Given the description of an element on the screen output the (x, y) to click on. 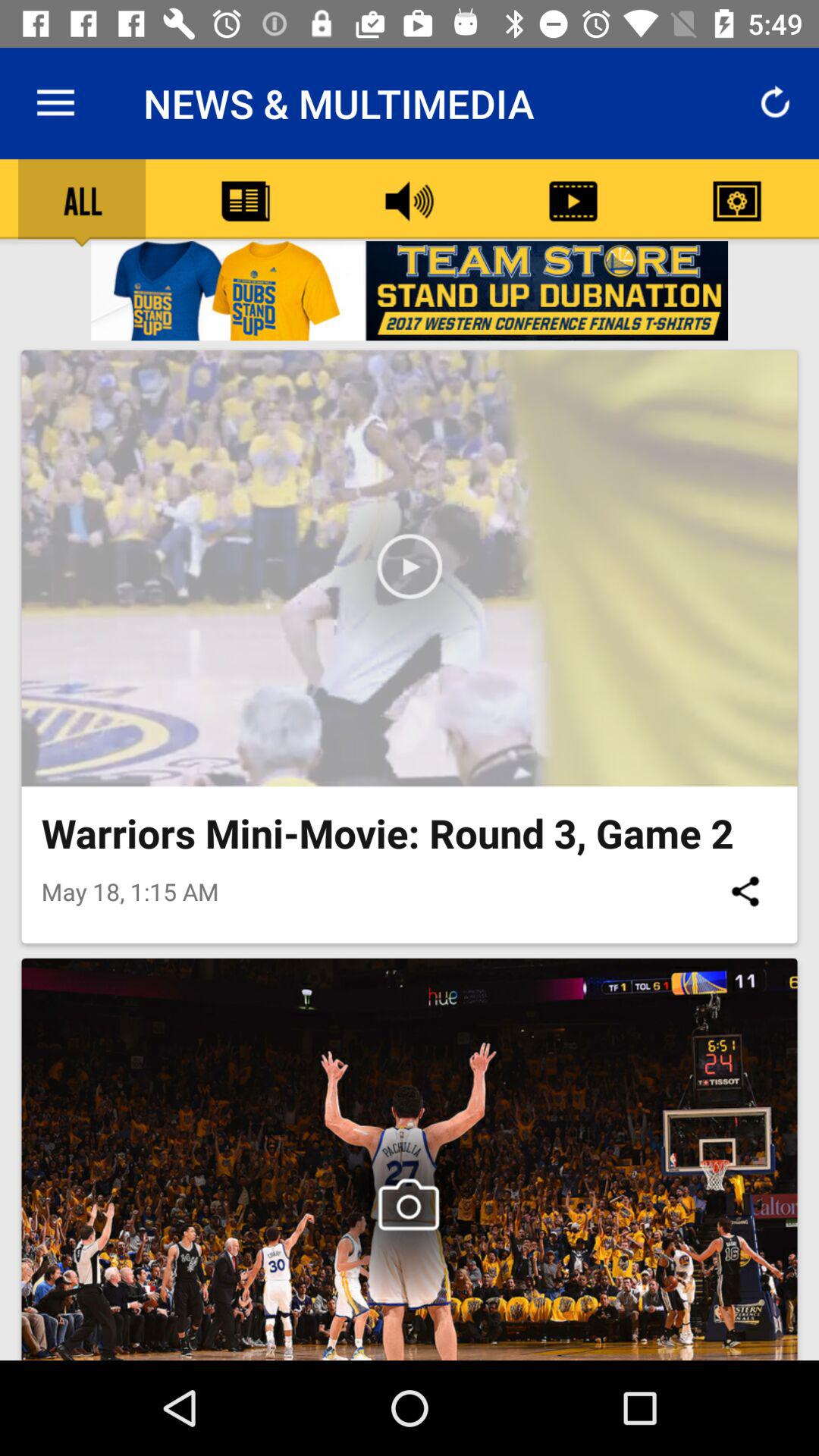
press the item to the left of the news & multimedia icon (55, 103)
